Given the description of an element on the screen output the (x, y) to click on. 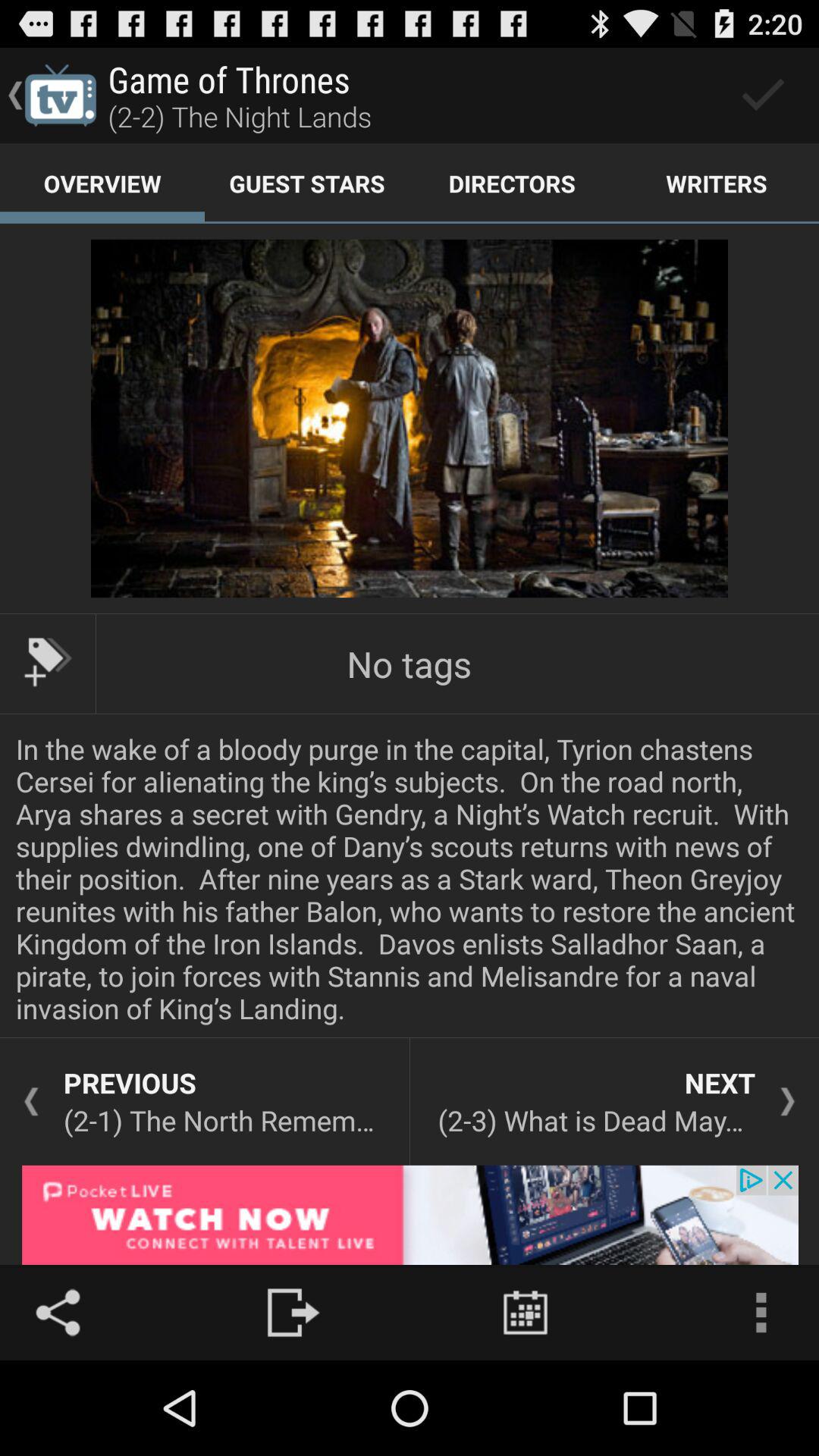
add tags (47, 661)
